Given the description of an element on the screen output the (x, y) to click on. 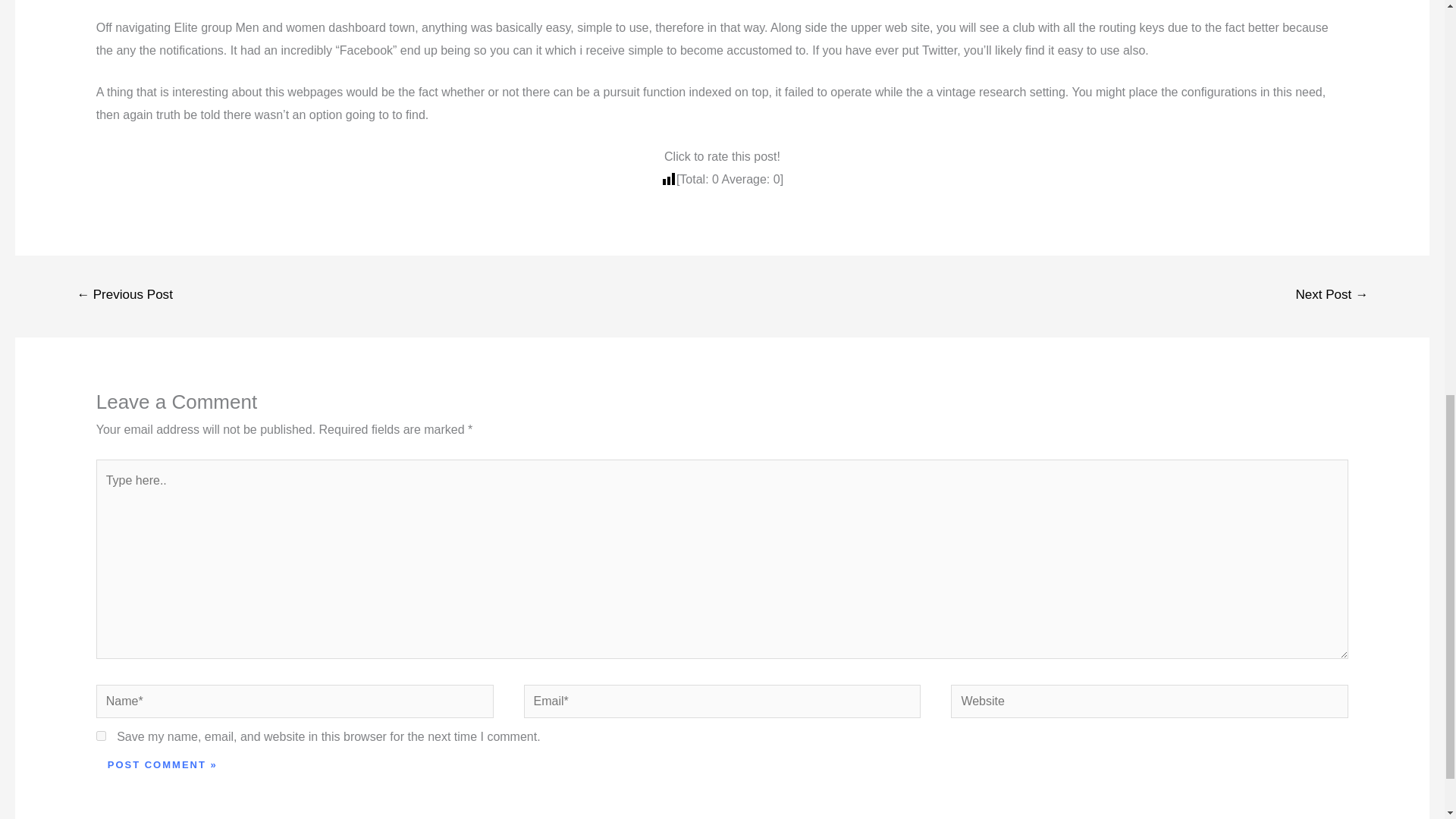
yes (101, 736)
